Given the description of an element on the screen output the (x, y) to click on. 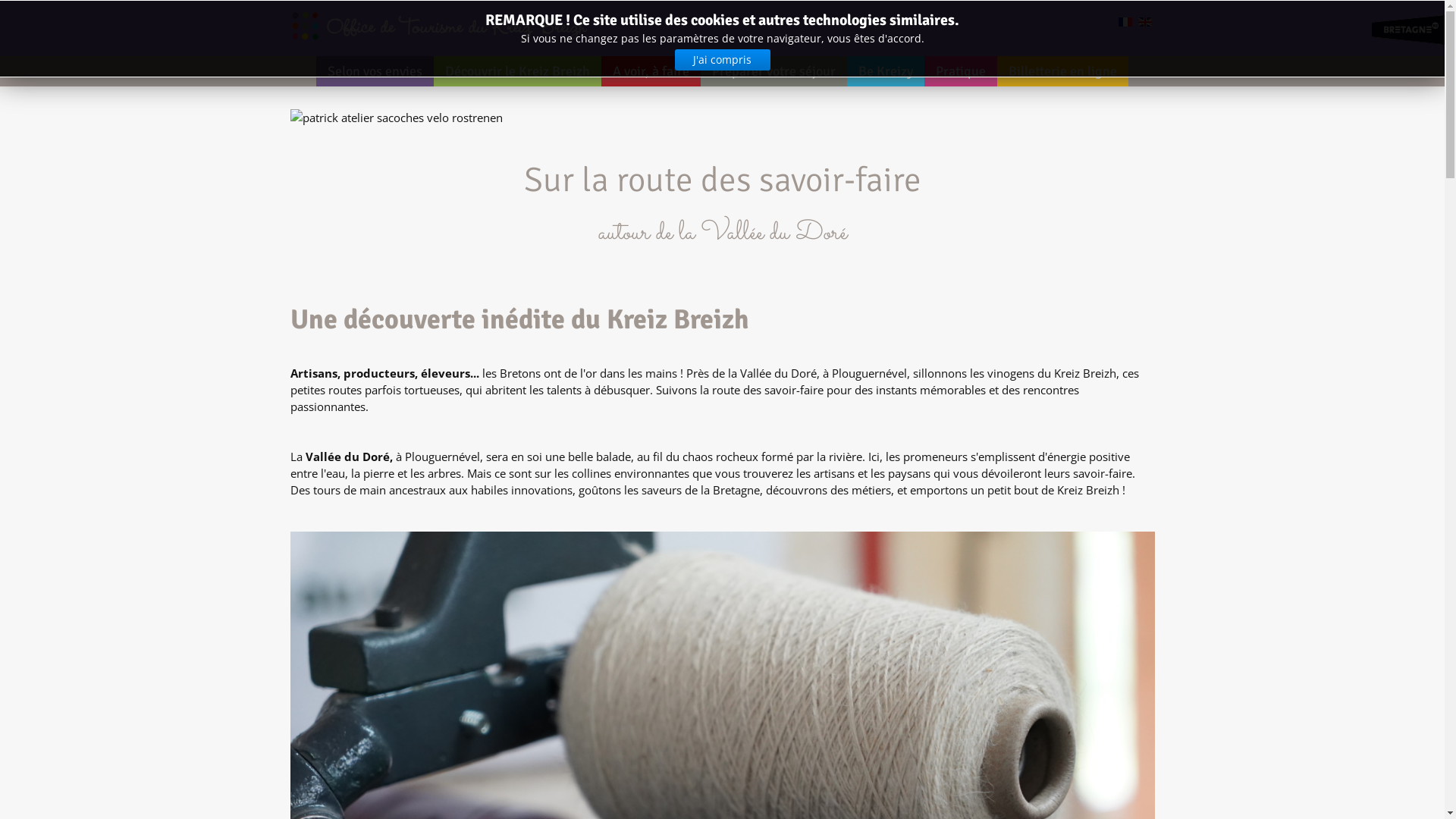
Be Kreizy Element type: text (885, 71)
Pratique Element type: text (960, 71)
Billetterie en ligne Element type: text (1062, 71)
Selon vos envies Element type: text (374, 71)
English (UK) Element type: hover (1144, 21)
